Given the description of an element on the screen output the (x, y) to click on. 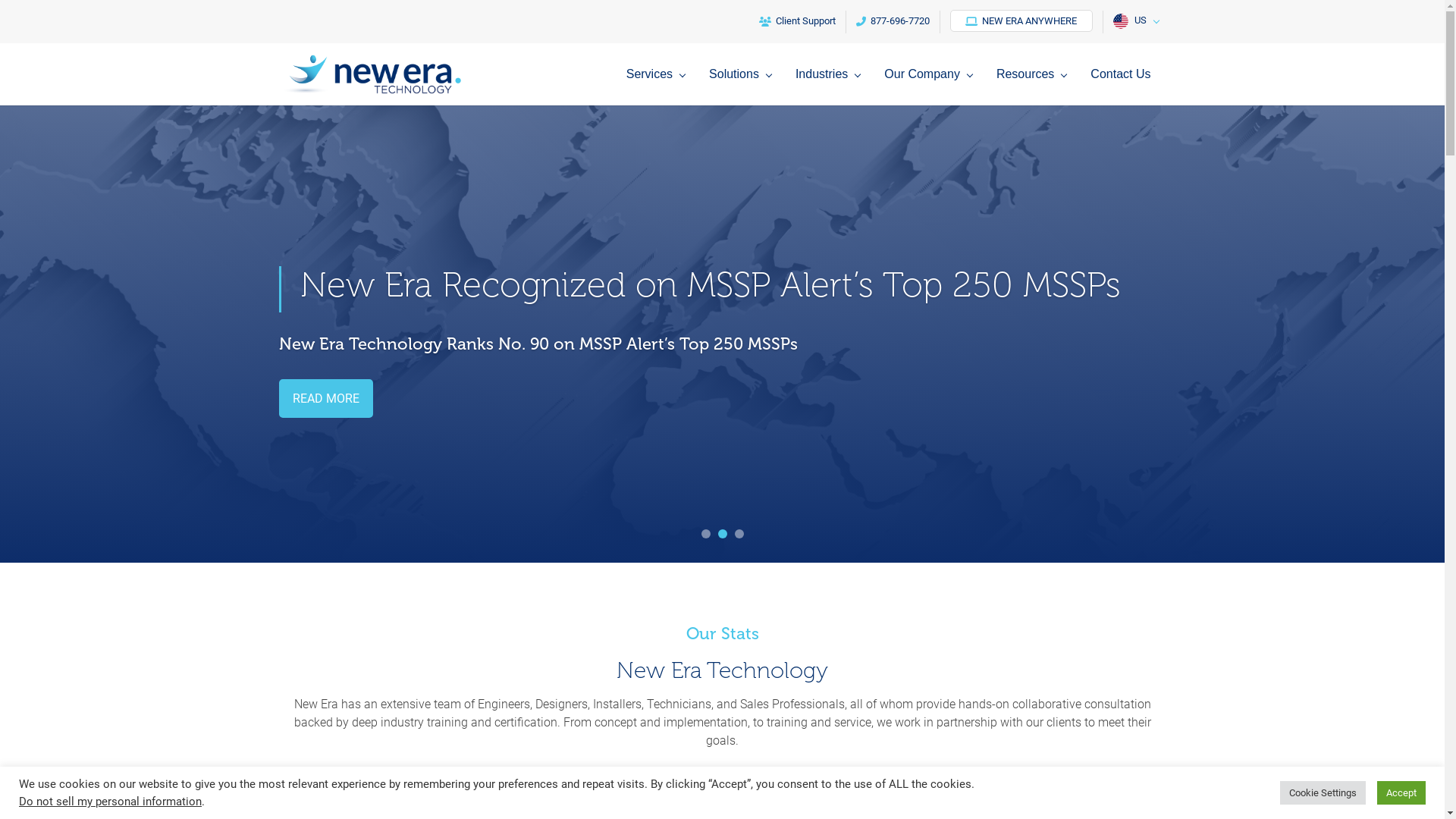
Solutions Element type: text (743, 86)
Our Company Element type: text (931, 86)
EXPLORE DIGITAL TRANSFORMATION Element type: text (396, 398)
NEW ERA ANYWHERE Element type: text (1020, 20)
1 Element type: text (704, 533)
Accept Element type: text (1401, 792)
Client Support Element type: text (797, 21)
Do not sell my personal information Element type: text (109, 801)
3 Element type: text (738, 533)
Services Element type: text (659, 86)
Industries Element type: text (831, 86)
877-696-7720 Element type: text (893, 21)
US Element type: text (1134, 21)
Contact Us Element type: text (1120, 86)
Cookie Settings Element type: text (1322, 792)
Resources Element type: text (1034, 86)
Reimagine How Your Business Works Element type: text (590, 284)
2 Element type: text (721, 533)
